Given the description of an element on the screen output the (x, y) to click on. 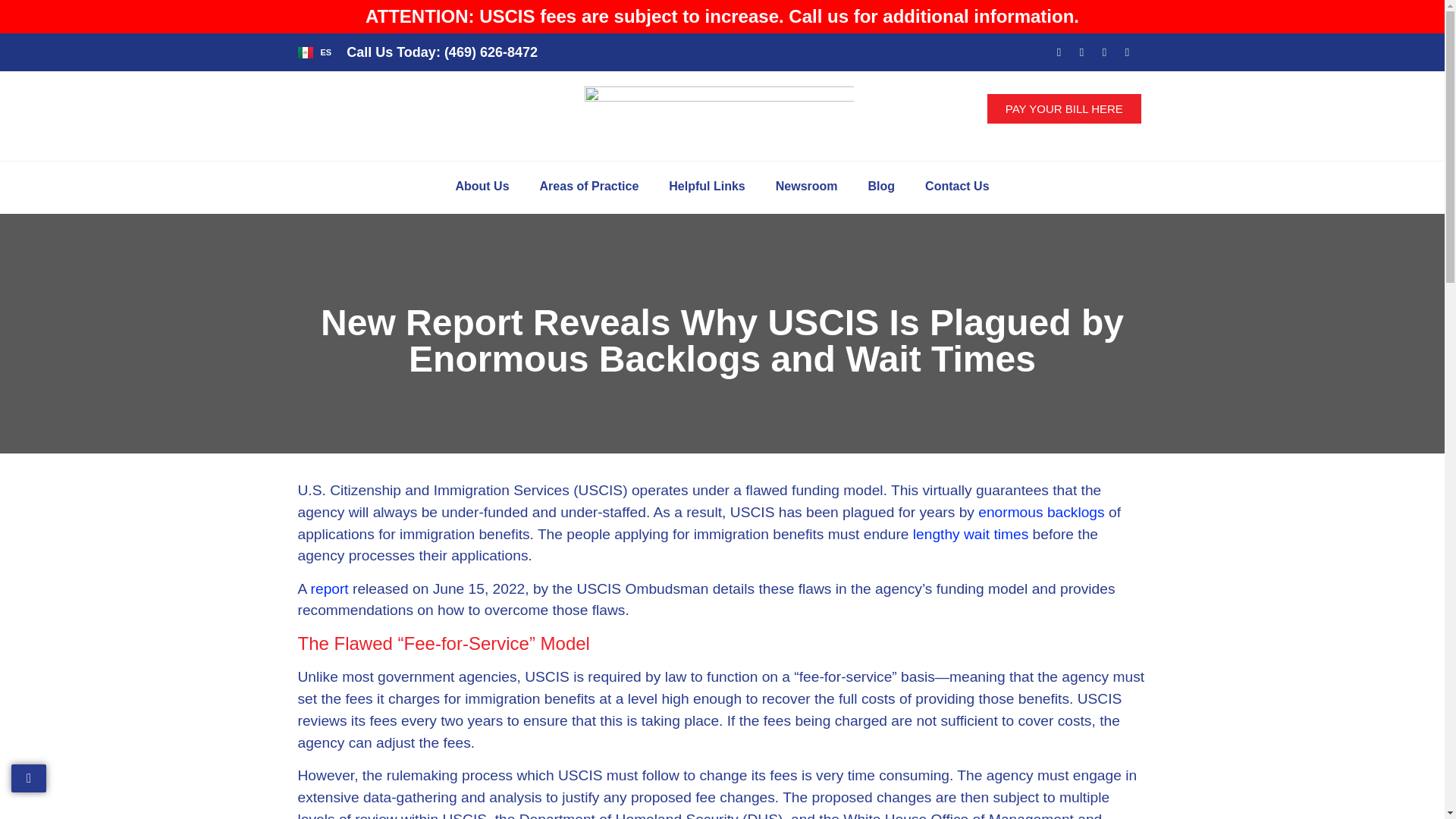
About Us (481, 185)
Newsroom (806, 185)
ES (314, 52)
Areas of Practice (588, 185)
Contact Us (957, 185)
lengthy wait times (970, 534)
enormous backlogs (1040, 512)
Helpful Links (706, 185)
PAY YOUR BILL HERE (1064, 108)
Blog (882, 185)
